Given the description of an element on the screen output the (x, y) to click on. 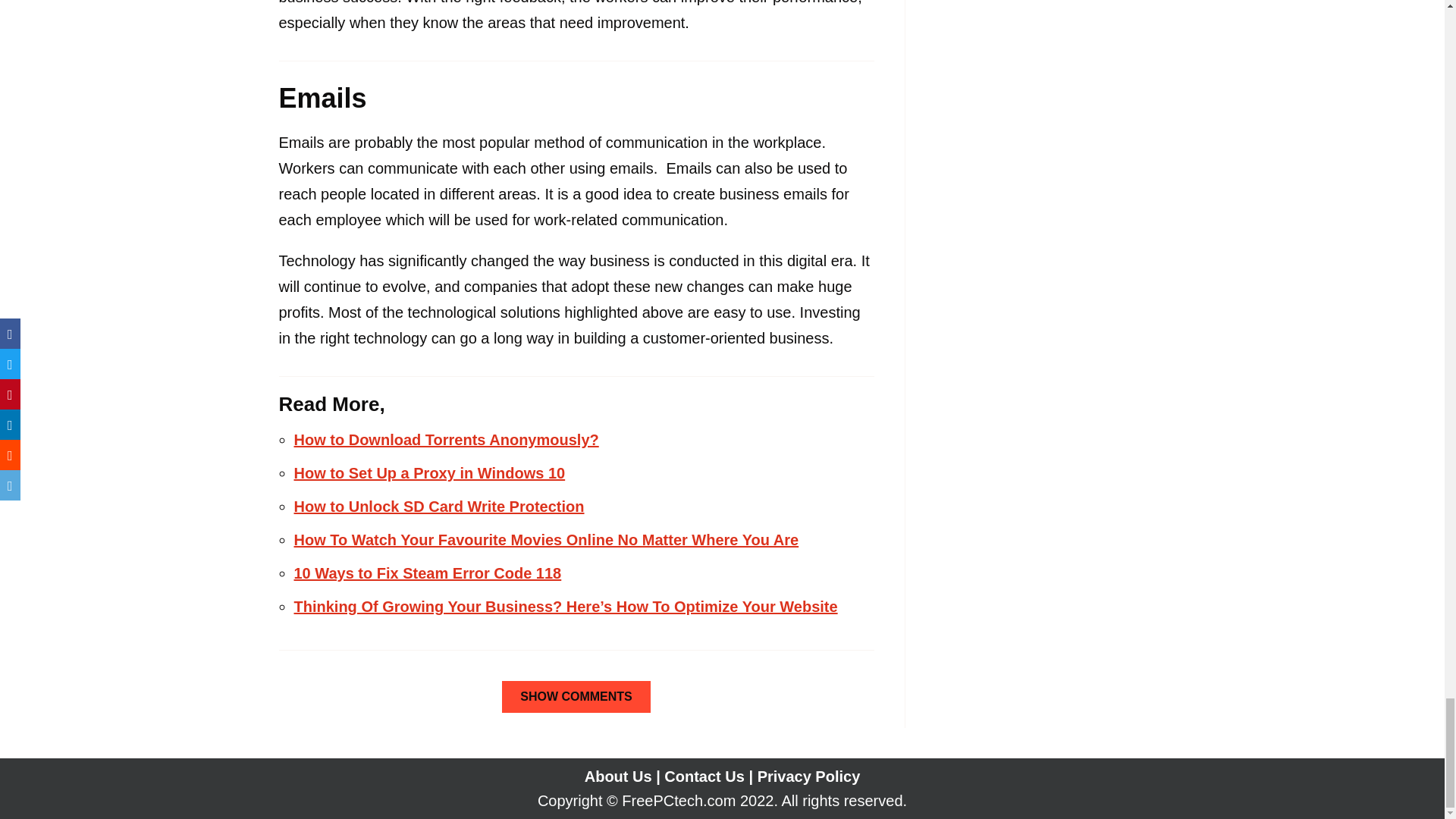
How to Set Up a Proxy in Windows 10 (430, 473)
How to Unlock SD Card Write Protection (439, 506)
How to Download Torrents Anonymously? (446, 439)
10 Ways to Fix Steam Error Code 118 (428, 573)
